Given the description of an element on the screen output the (x, y) to click on. 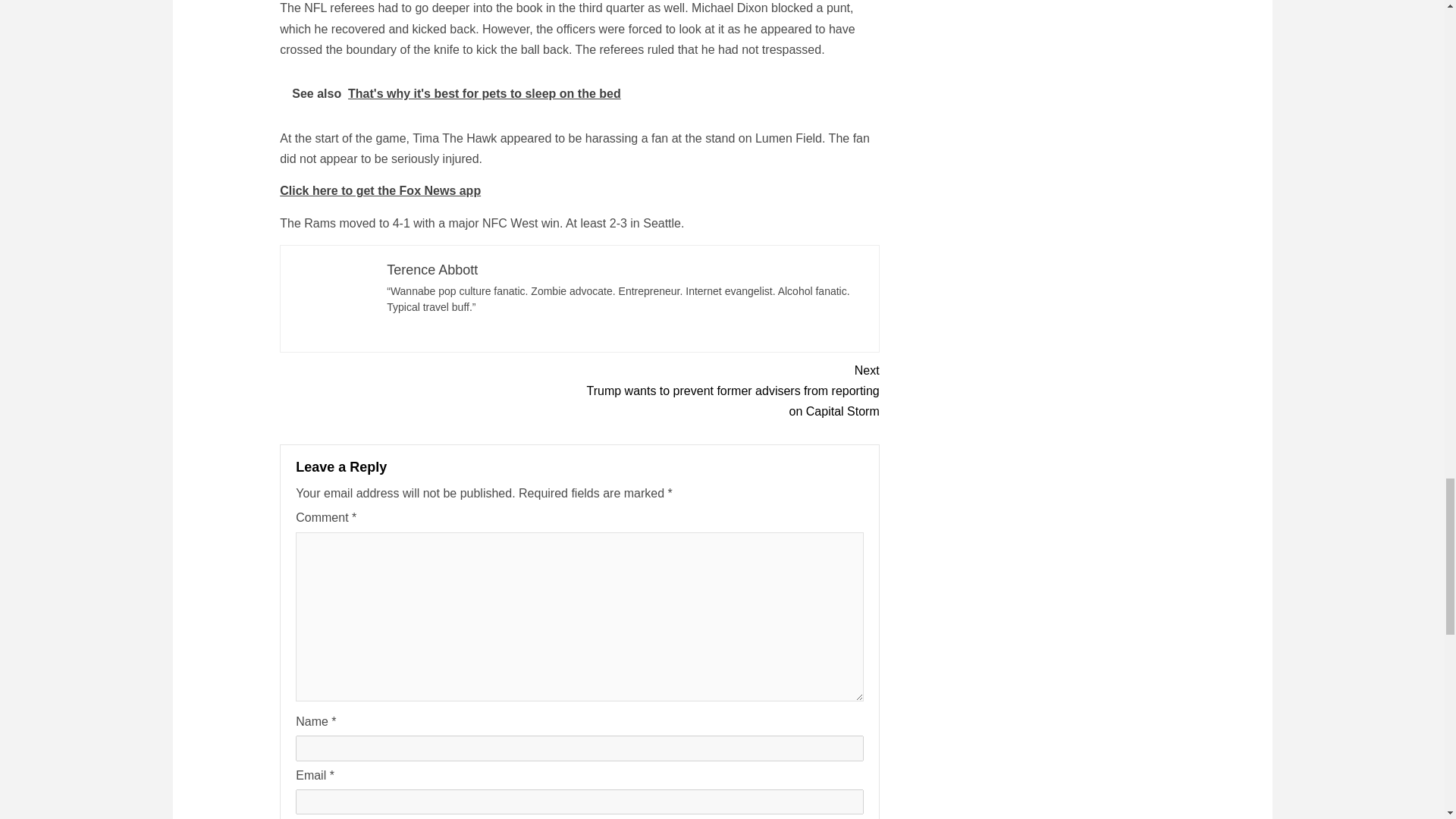
Terence Abbott (432, 269)
Click here to get the Fox News app (379, 190)
See also  That's why it's best for pets to sleep on the bed (579, 93)
